Given the description of an element on the screen output the (x, y) to click on. 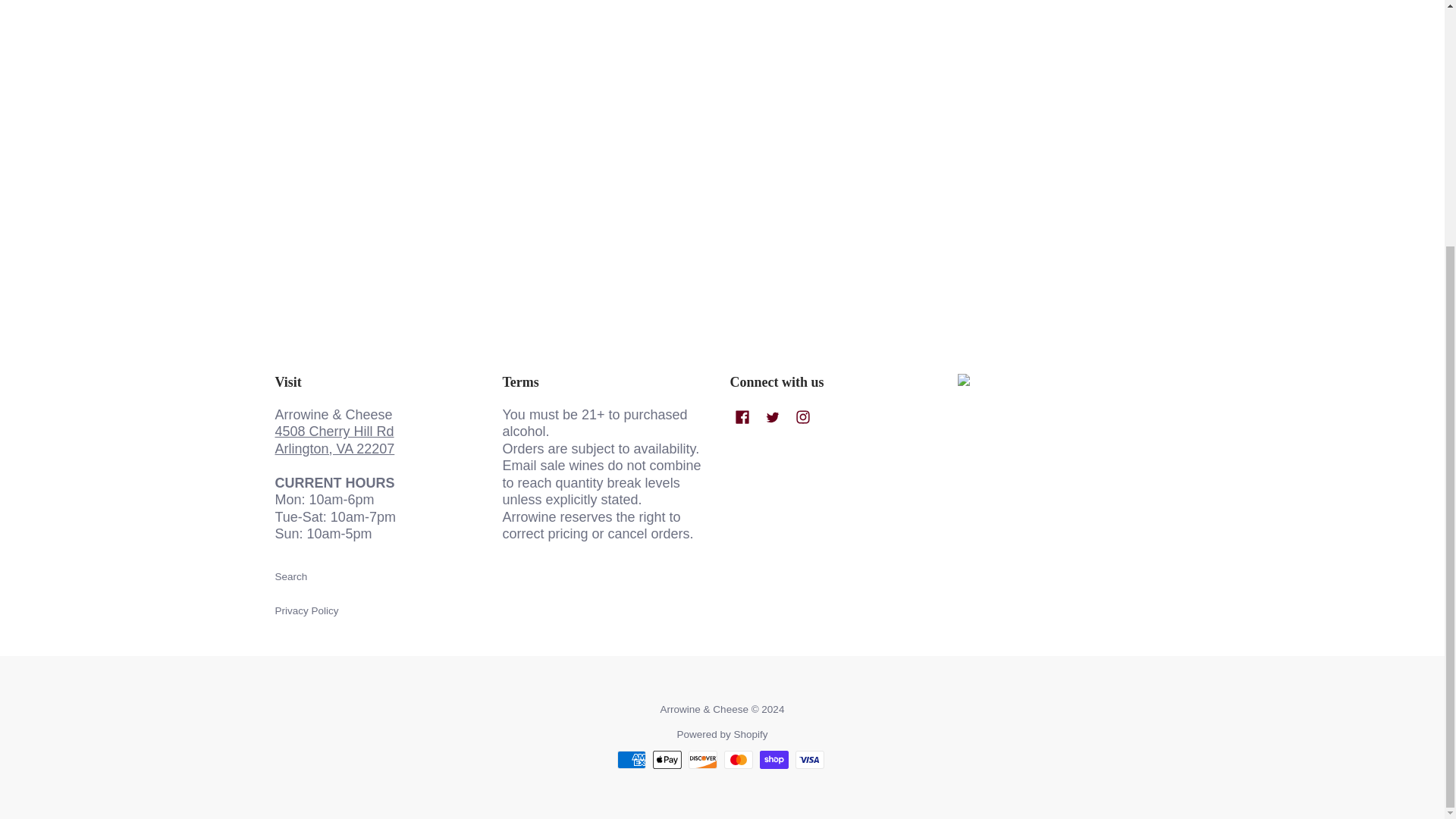
American Express (631, 760)
Mastercard (737, 760)
Discover (702, 760)
Shop Pay (774, 760)
Apple Pay (666, 760)
Visa (809, 760)
